Given the description of an element on the screen output the (x, y) to click on. 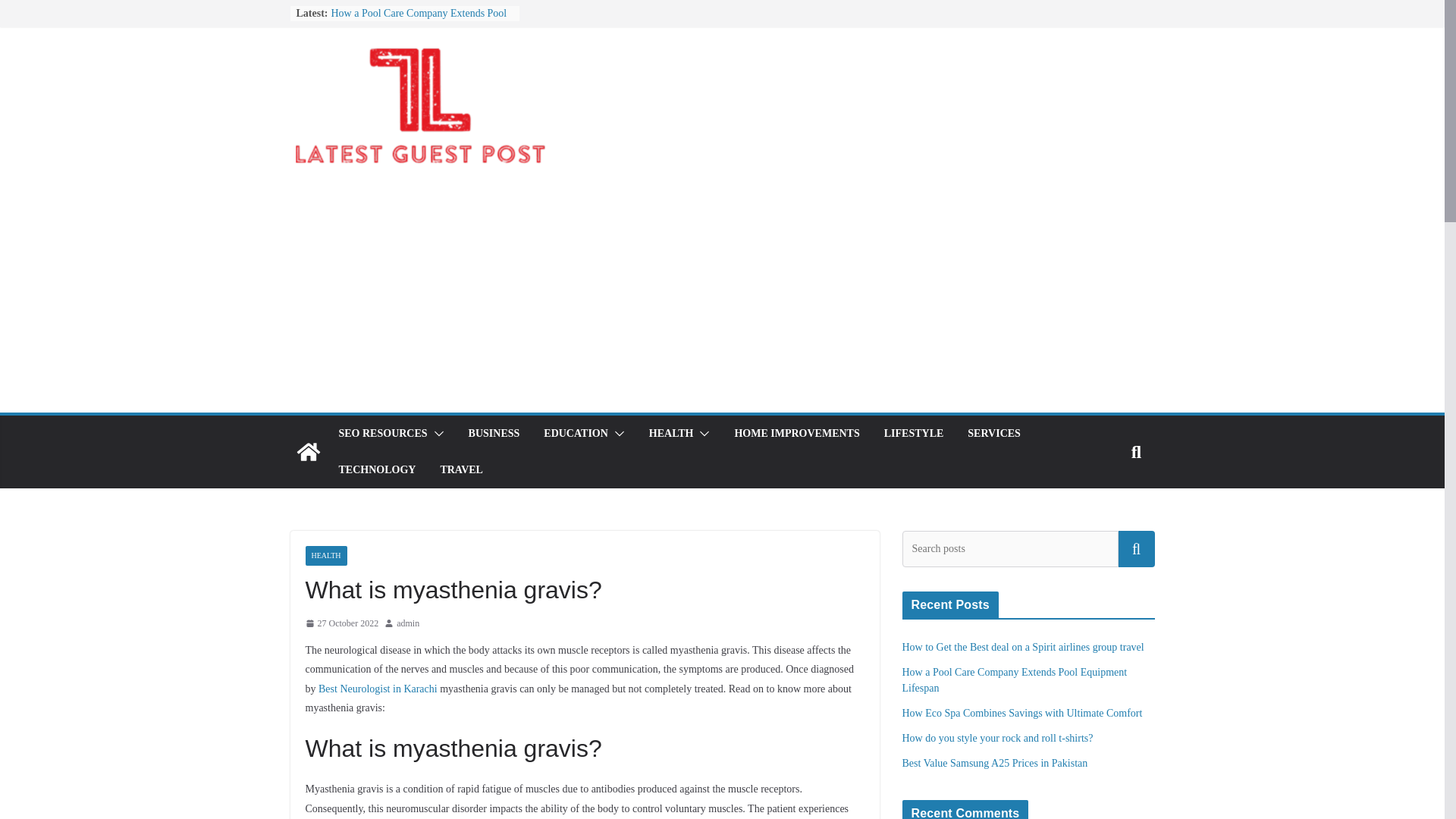
EDUCATION (575, 433)
How a Pool Care Company Extends Pool Equipment Lifespan (418, 20)
HOME IMPROVEMENTS (796, 433)
Best Value Samsung A25 Prices in Pakistan (994, 763)
Best Neurologist in Karachi (378, 687)
TRAVEL (461, 469)
How to Get the Best deal on a Spirit airlines group travel (1023, 646)
How Eco Spa Combines Savings with Ultimate Comfort (1022, 713)
Search (1136, 548)
admin (407, 623)
HEALTH (671, 433)
BUSINESS (493, 433)
SEO RESOURCES (381, 433)
27 October 2022 (341, 623)
